Given the description of an element on the screen output the (x, y) to click on. 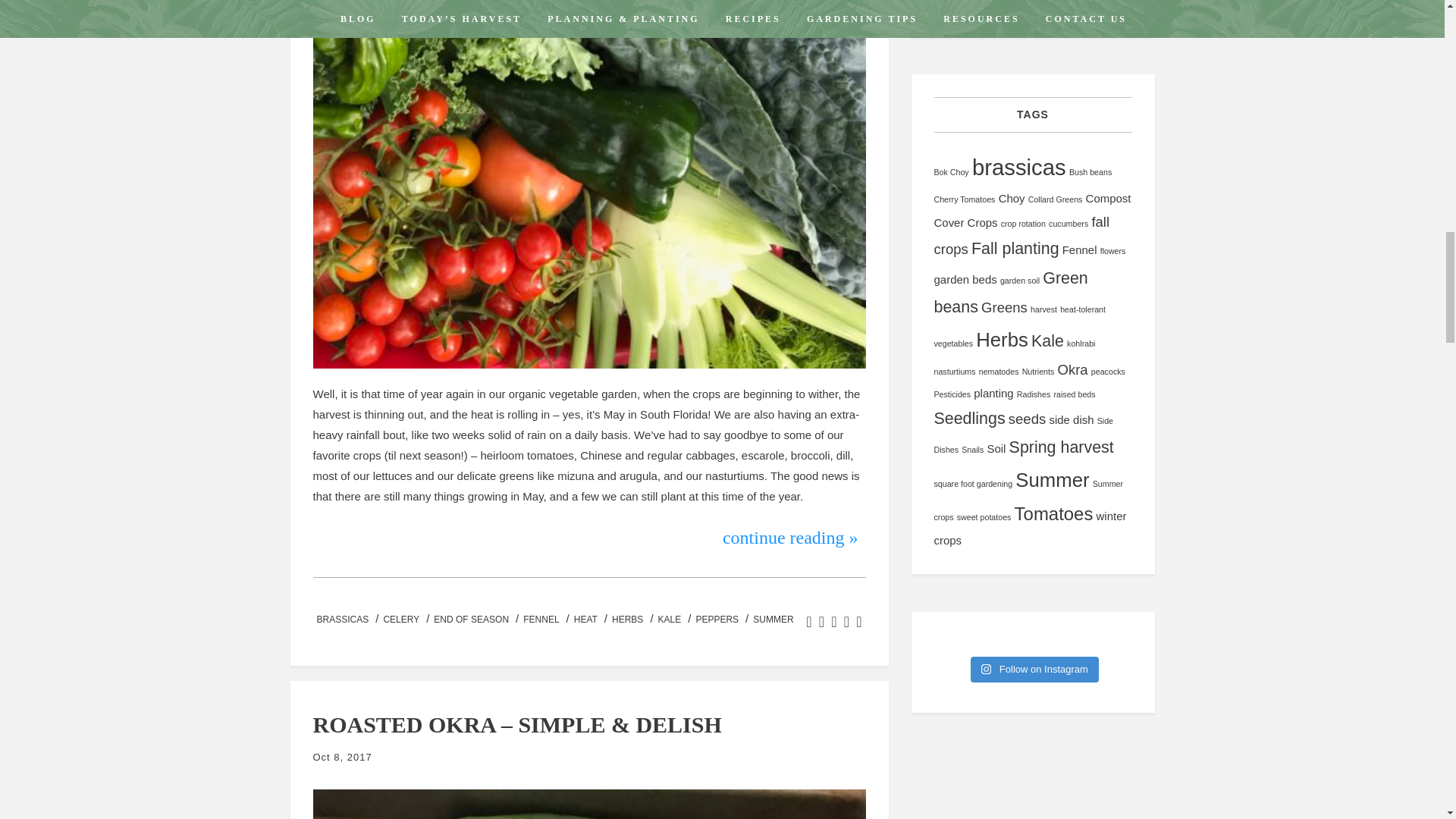
SUMMER (772, 620)
PEPPERS (716, 620)
HEAT (585, 620)
FENNEL (540, 620)
END OF SEASON (470, 620)
BRASSICAS (342, 620)
HERBS (627, 620)
CELERY (400, 620)
KALE (669, 620)
